Given the description of an element on the screen output the (x, y) to click on. 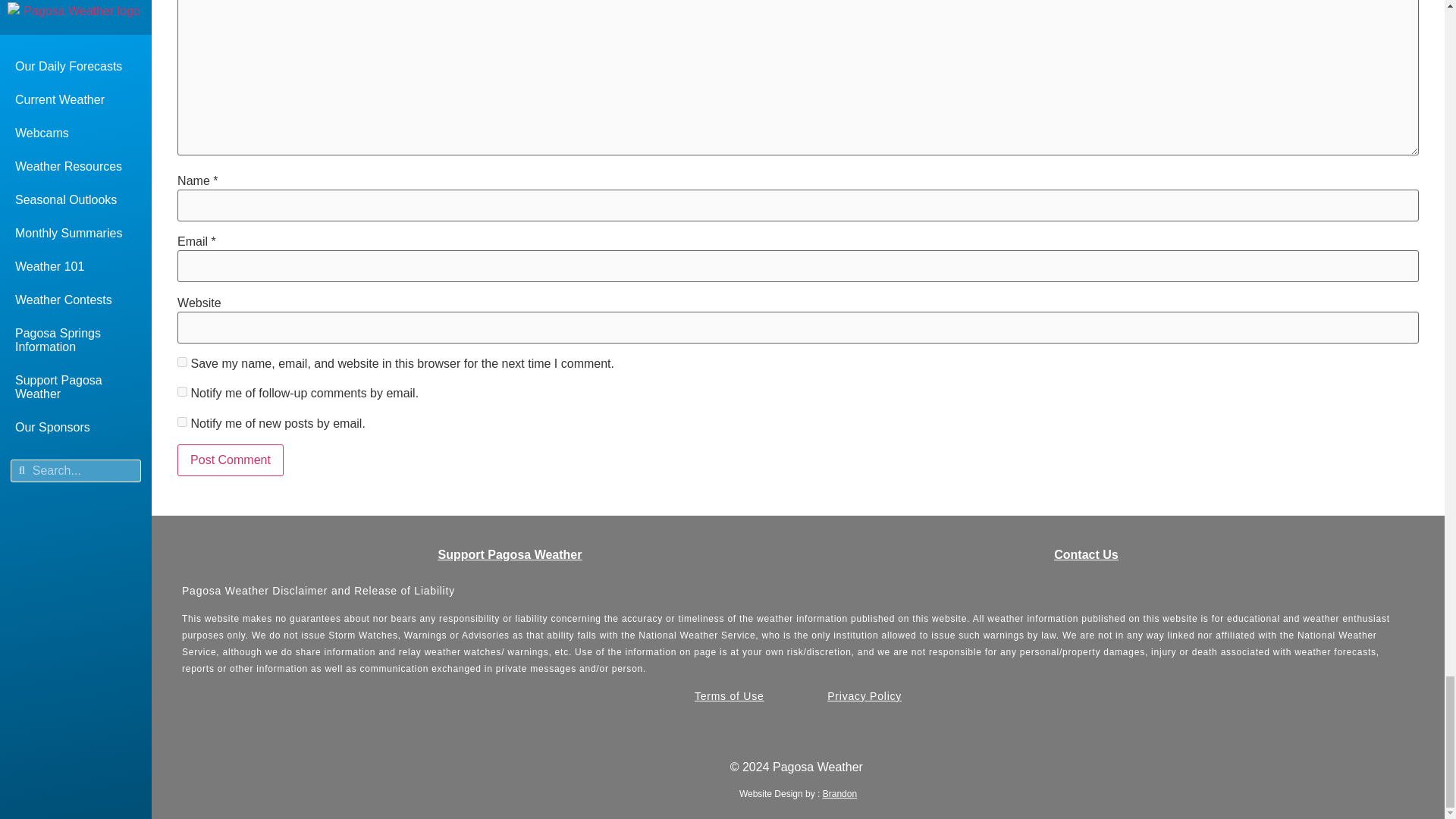
Post Comment (230, 459)
subscribe (182, 421)
yes (182, 361)
subscribe (182, 391)
